Given the description of an element on the screen output the (x, y) to click on. 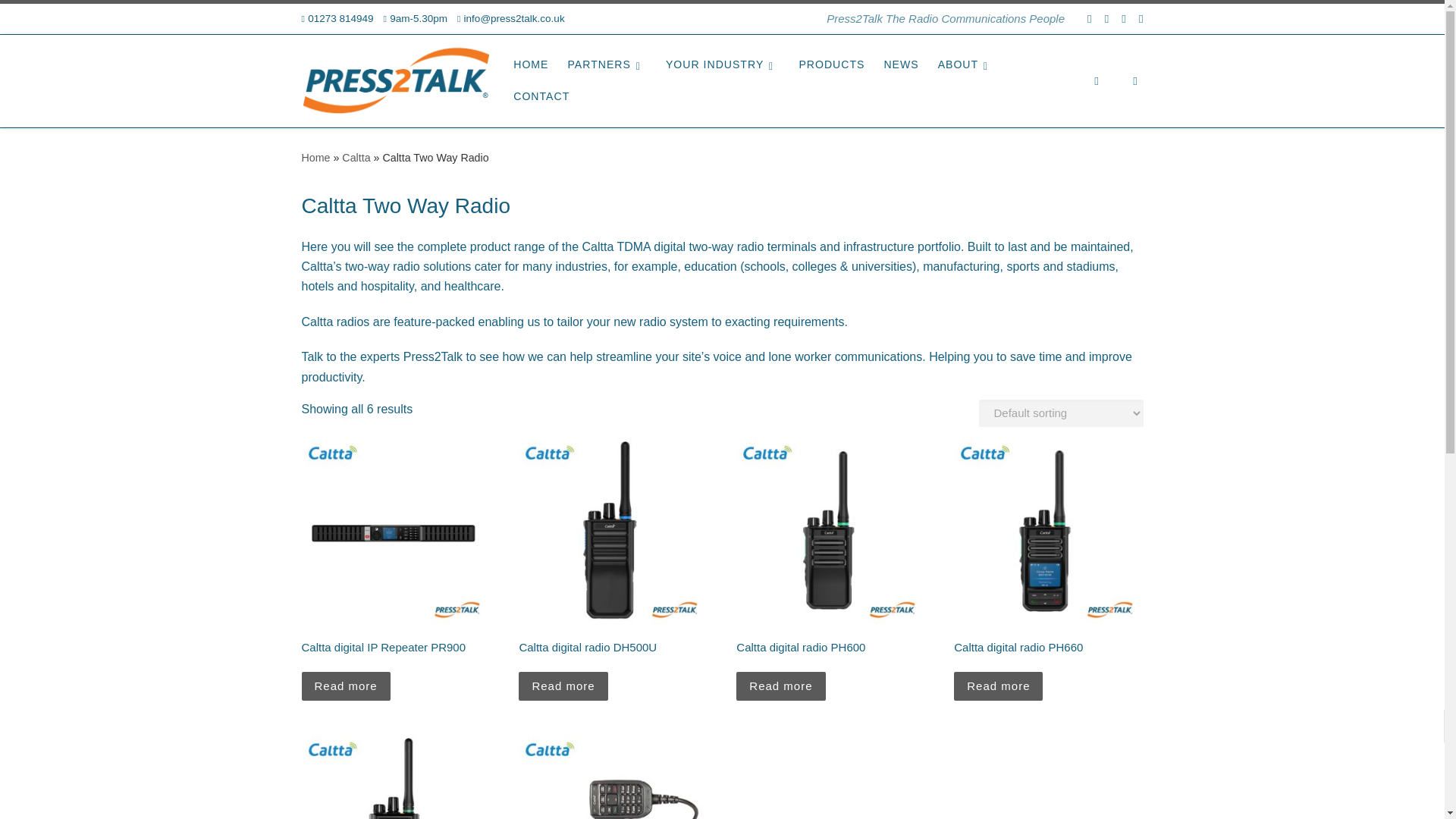
NEWS (901, 64)
PRODUCTS (831, 64)
ABOUT (965, 64)
YOUR INDUSTRY (722, 64)
Skip to content (60, 20)
PARTNERS (606, 64)
01273 814949 (337, 19)
01273 814949 (337, 19)
HOME (530, 64)
CONTACT (541, 96)
